Given the description of an element on the screen output the (x, y) to click on. 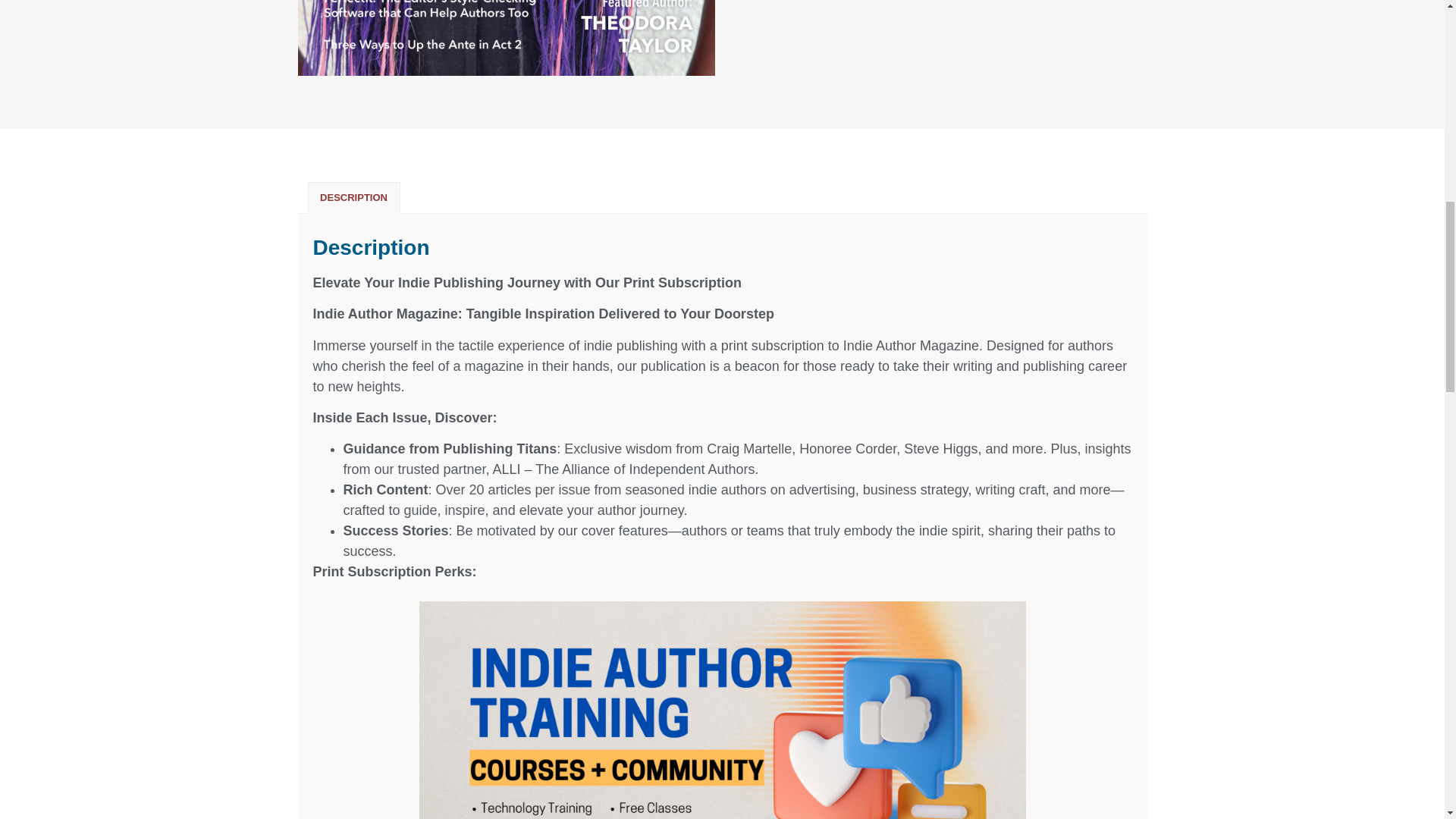
DESCRIPTION (352, 197)
